Given the description of an element on the screen output the (x, y) to click on. 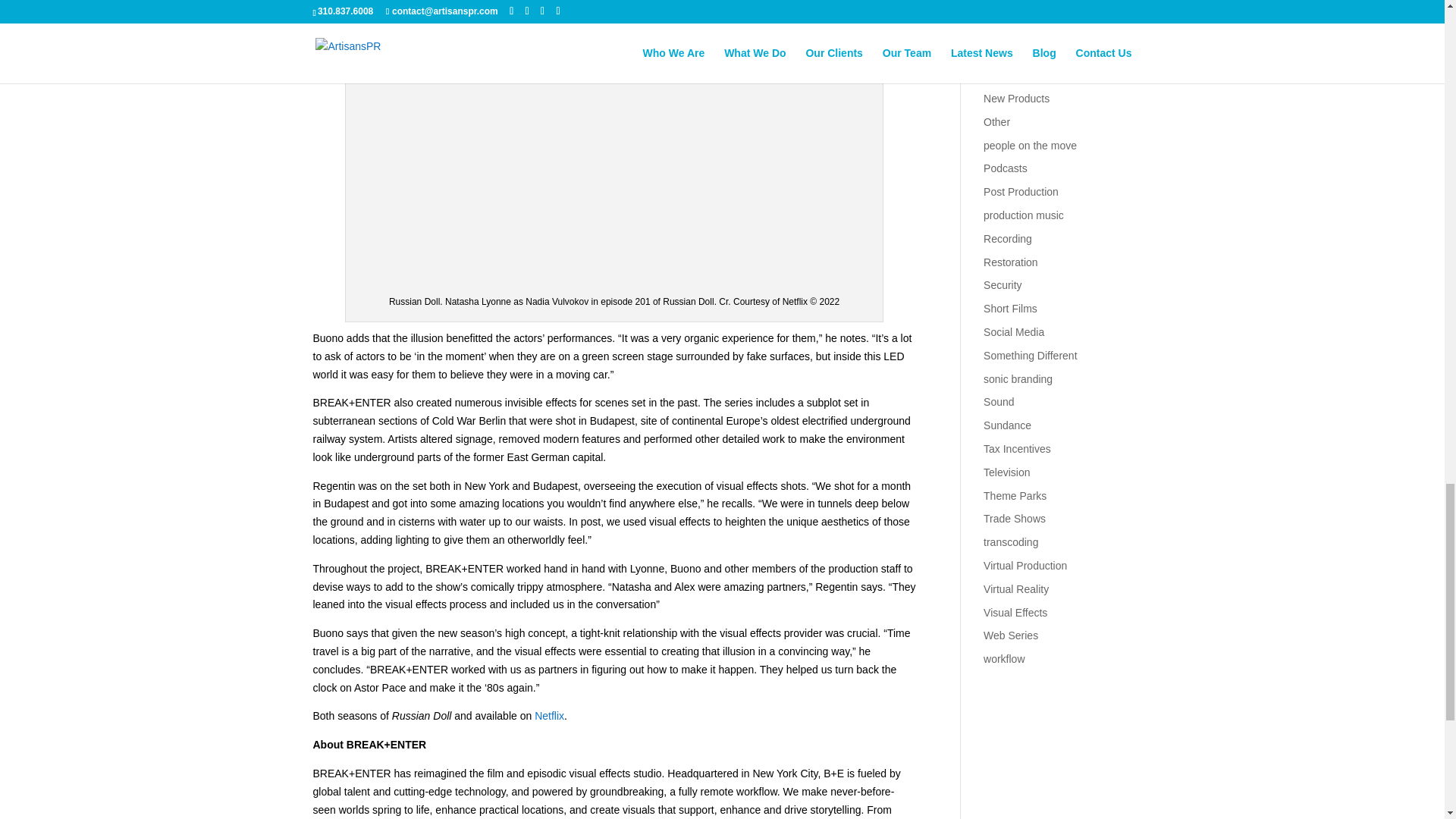
Netflix (549, 715)
